Given the description of an element on the screen output the (x, y) to click on. 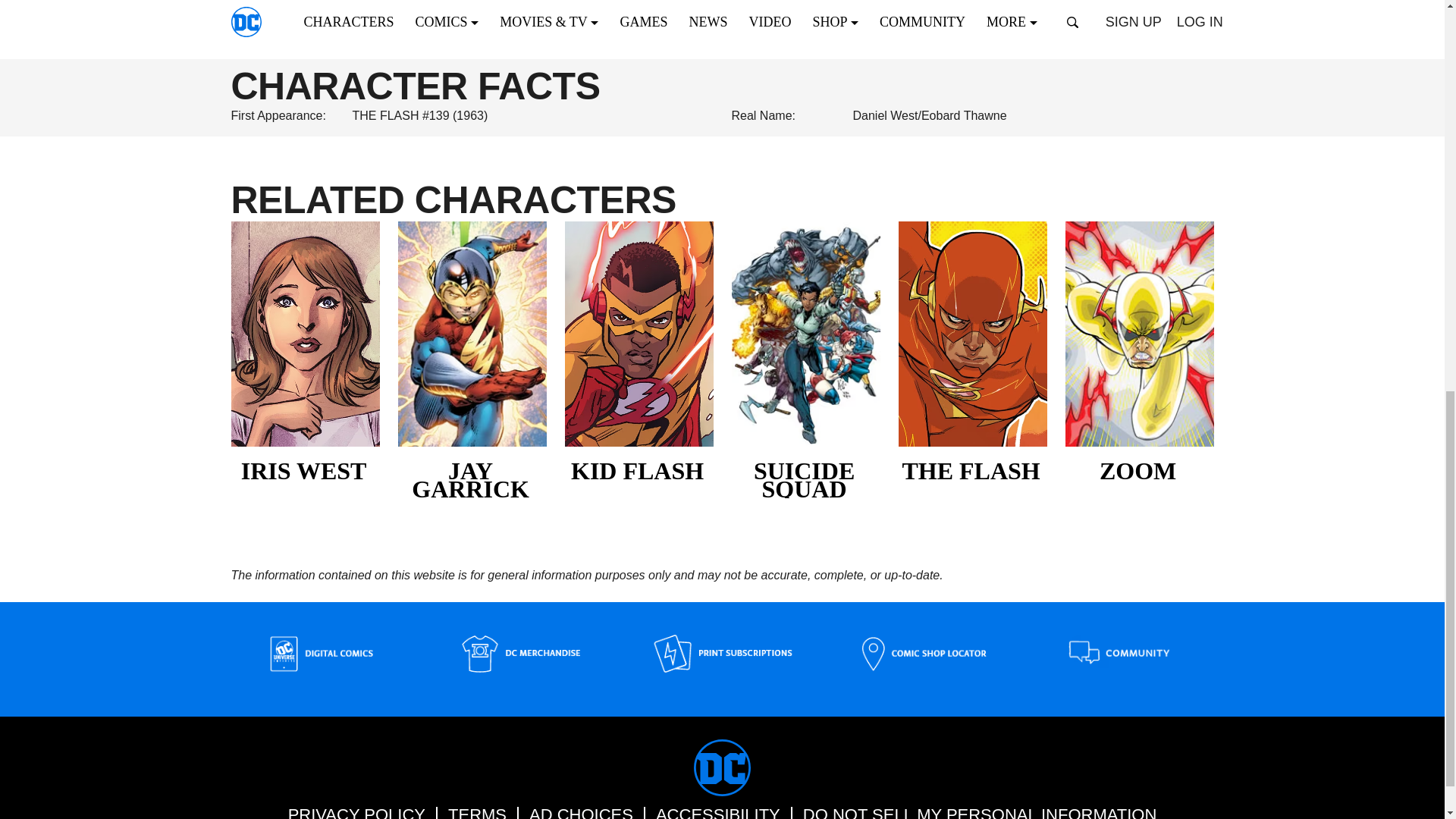
The Flash (972, 473)
Iris West (304, 473)
Suicide Squad (804, 482)
Kid Flash (638, 473)
Jay Garrick (471, 482)
Zoom (1138, 473)
